Given the description of an element on the screen output the (x, y) to click on. 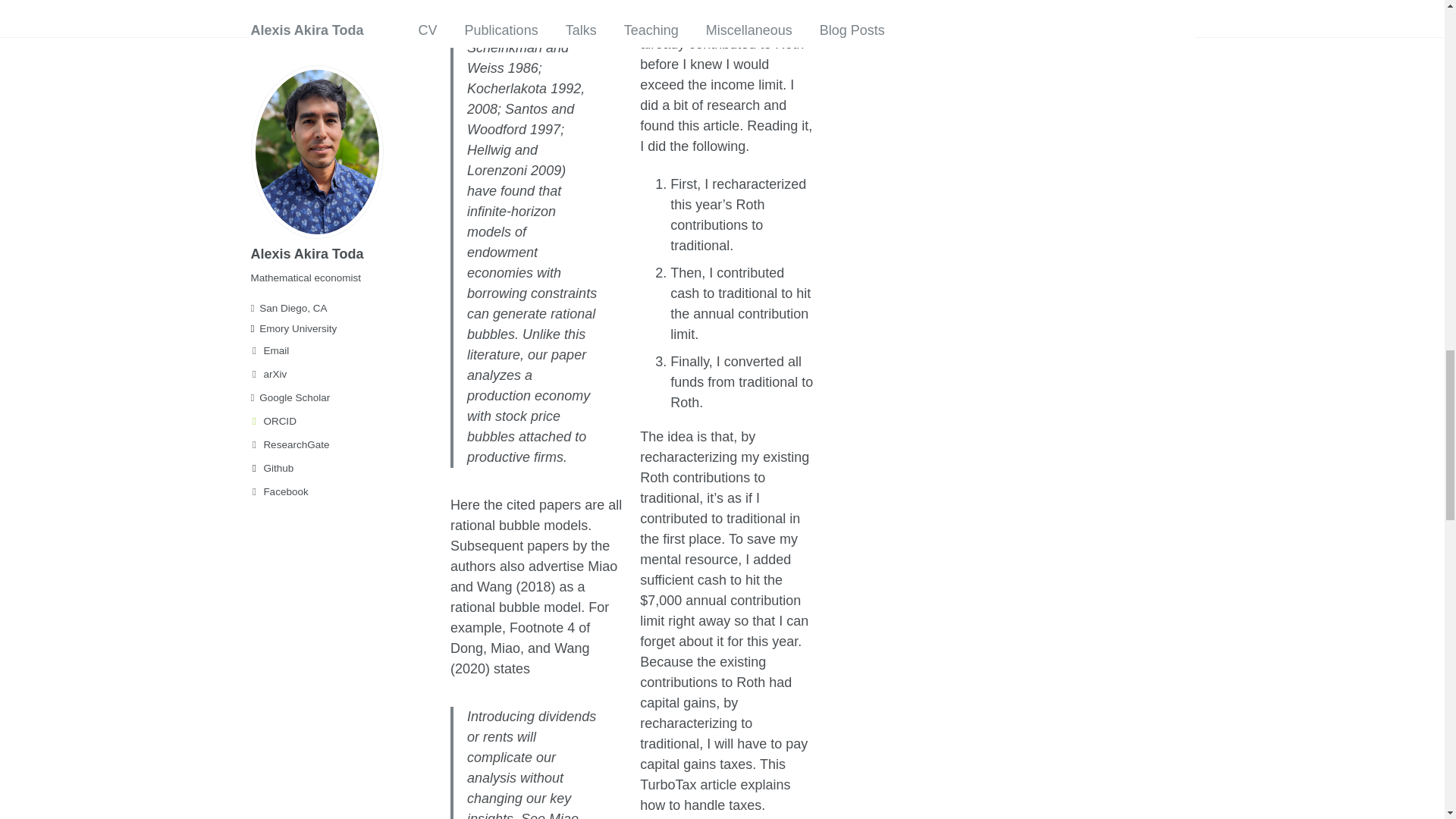
Scheinkman and Weiss 1986 (518, 58)
2008 (482, 109)
Hellwig and Lorenzoni 2009 (513, 160)
this article (708, 125)
1992 (565, 88)
Santos and Woodford 1997 (520, 119)
